Given the description of an element on the screen output the (x, y) to click on. 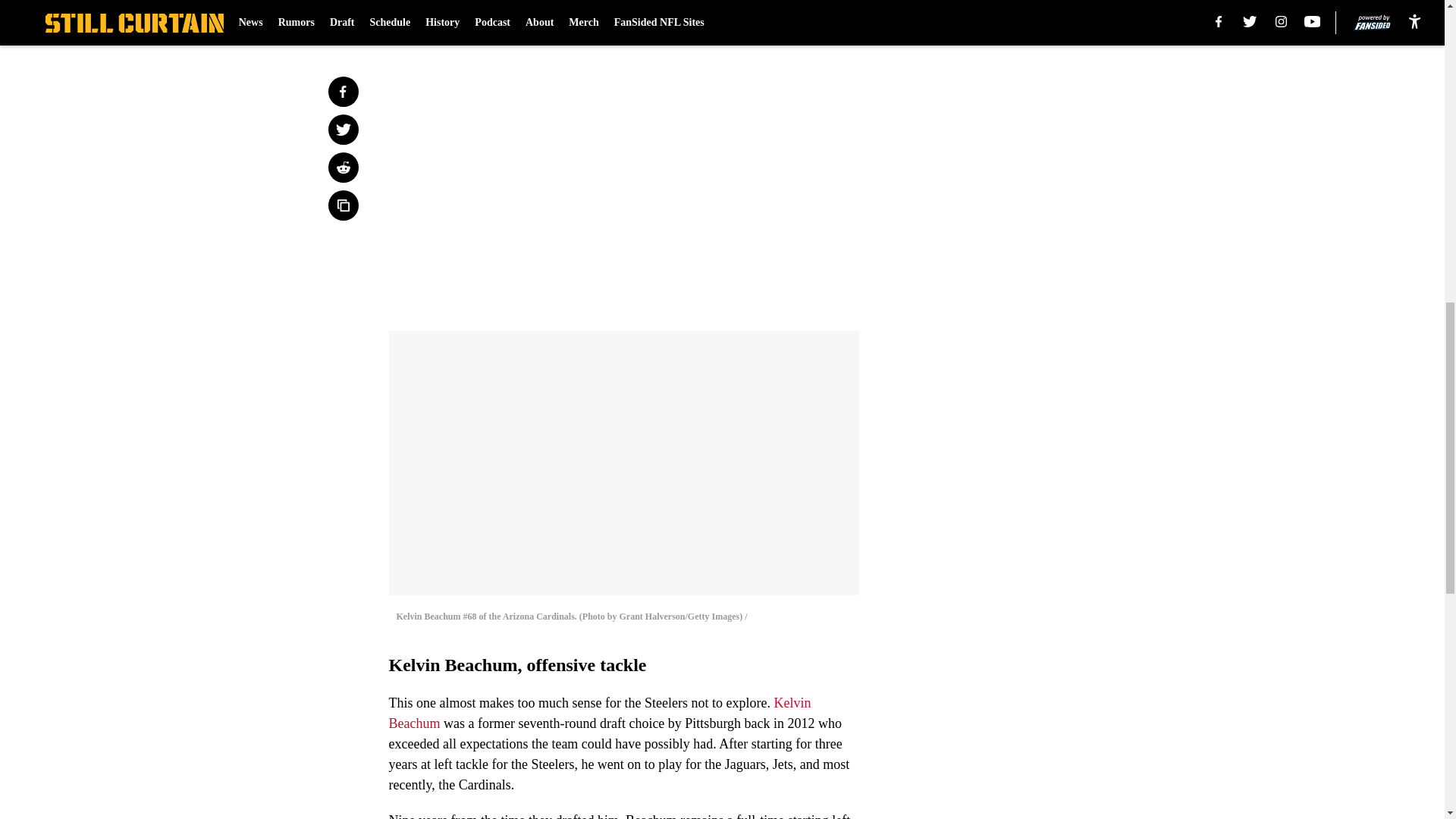
Kelvin Beachum (599, 713)
Prev (433, 20)
Next (813, 20)
